Given the description of an element on the screen output the (x, y) to click on. 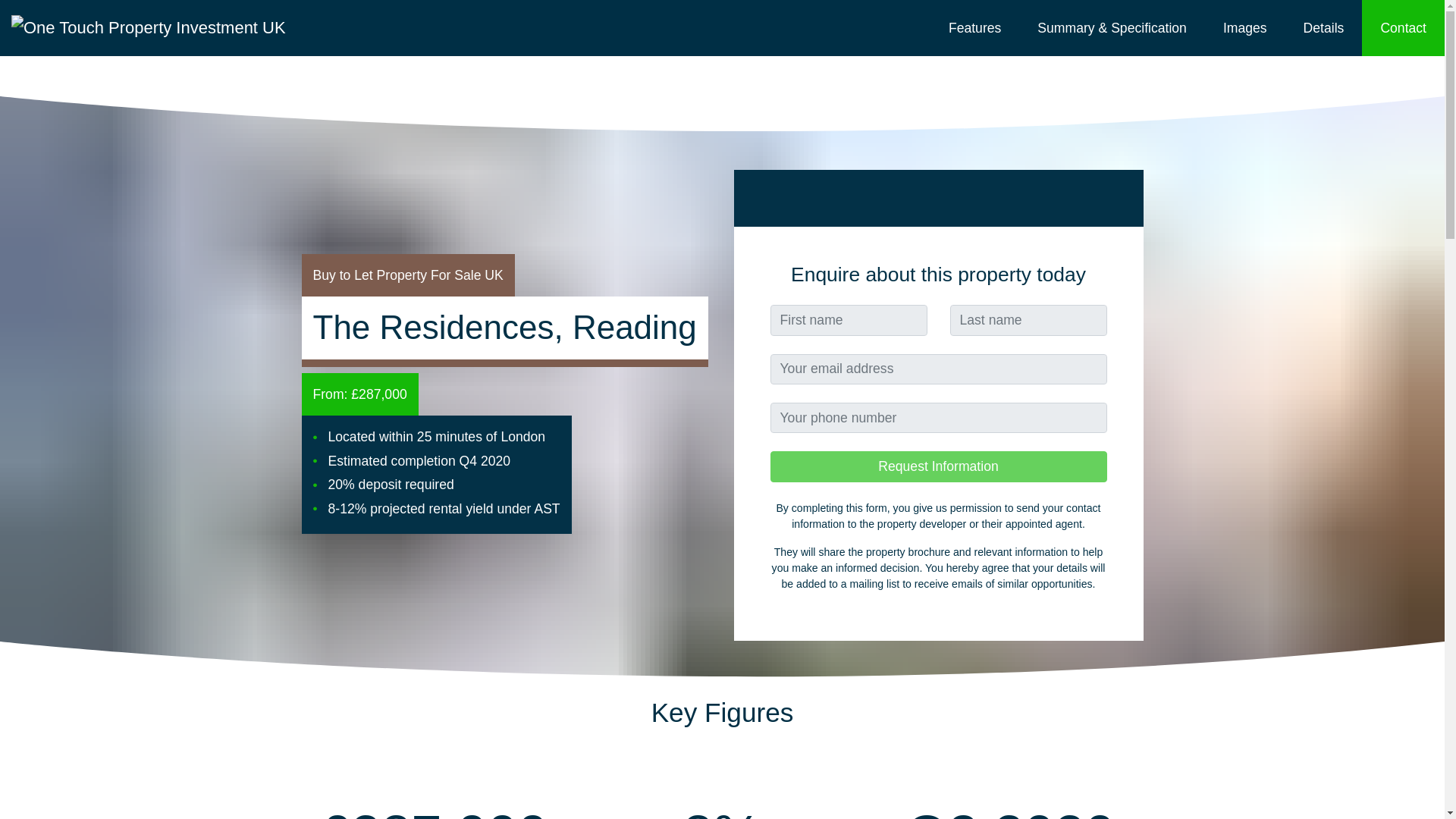
Details (1323, 28)
Features (974, 28)
Images (1245, 28)
Request Information (938, 466)
